Given the description of an element on the screen output the (x, y) to click on. 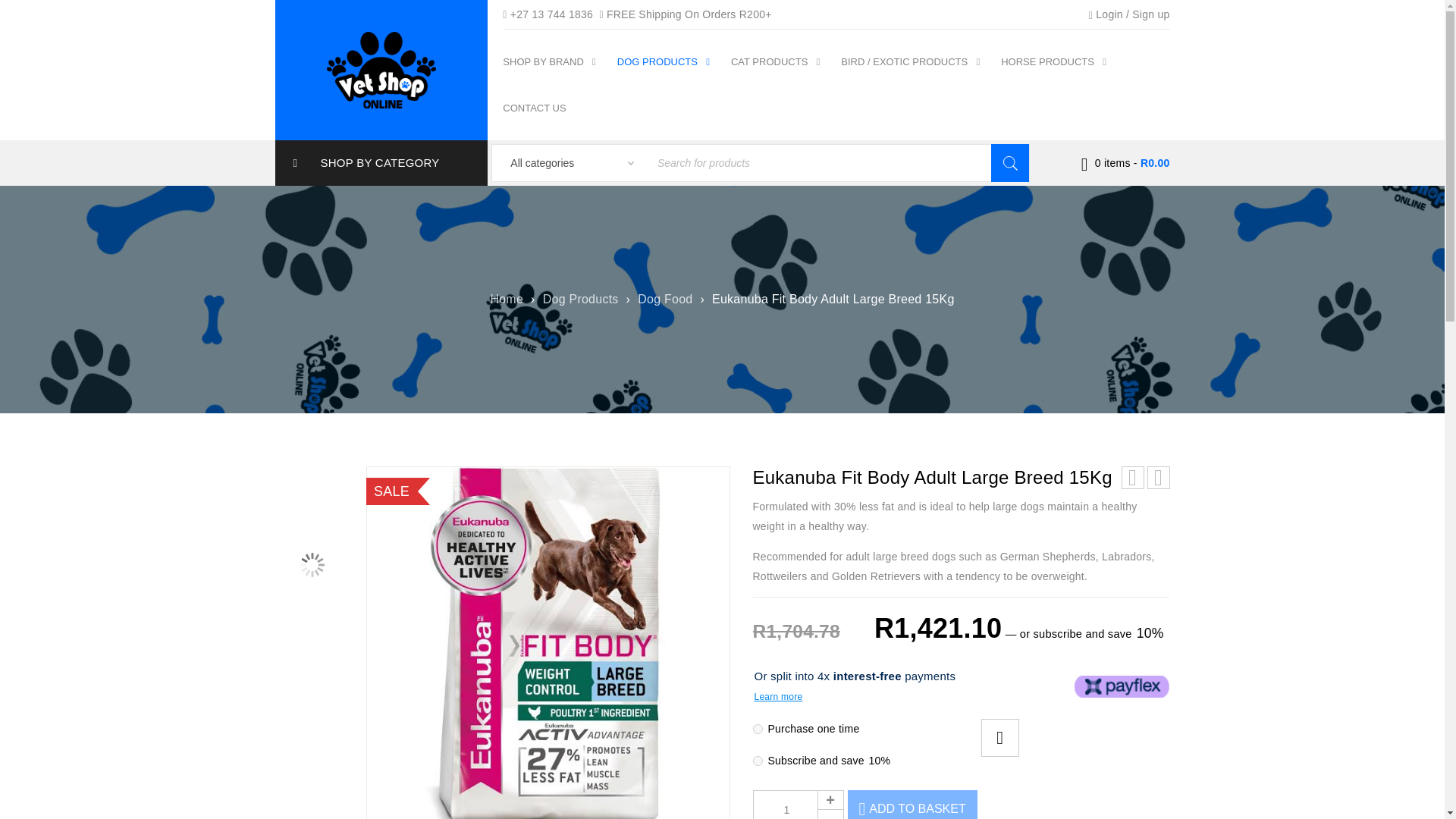
SHOP BY BRAND (550, 61)
Search (1010, 162)
Create New Account (1150, 14)
Sign up (1150, 14)
yes (756, 760)
Login (1109, 14)
CAT PRODUCTS (776, 61)
- (830, 814)
VetShopOnline (380, 69)
Search (1010, 162)
